Given the description of an element on the screen output the (x, y) to click on. 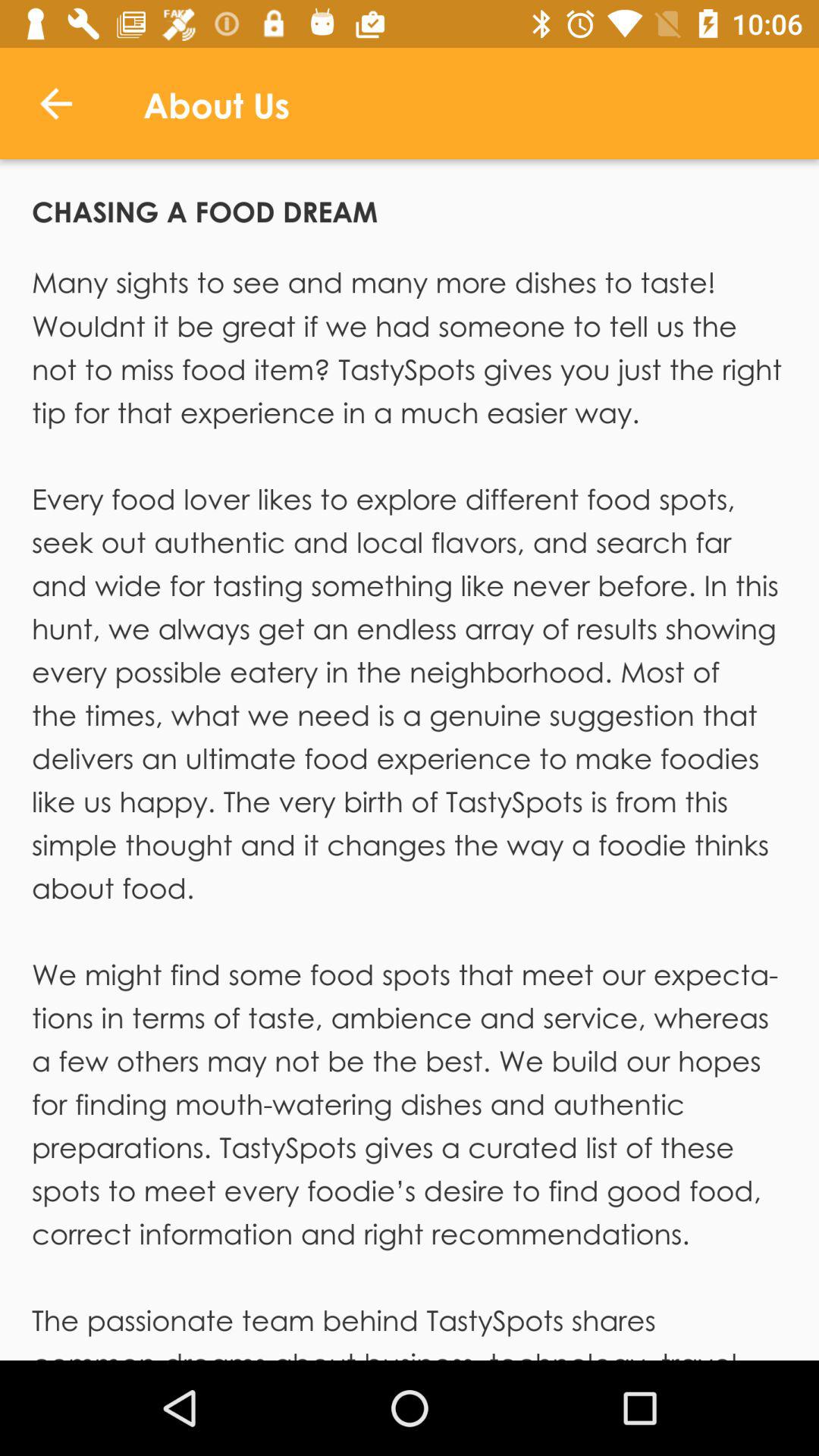
select item to the left of about us icon (55, 103)
